Given the description of an element on the screen output the (x, y) to click on. 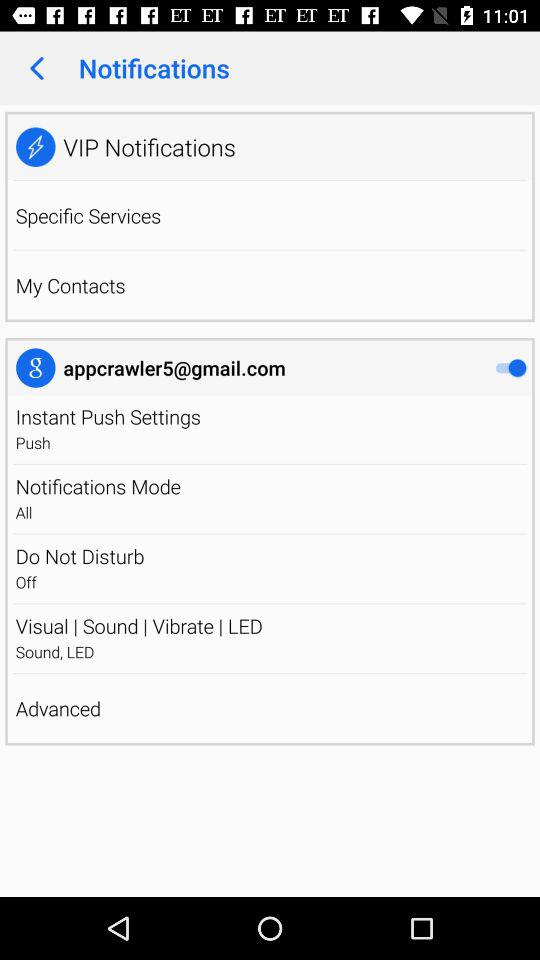
press item above the instant push settings (174, 367)
